Given the description of an element on the screen output the (x, y) to click on. 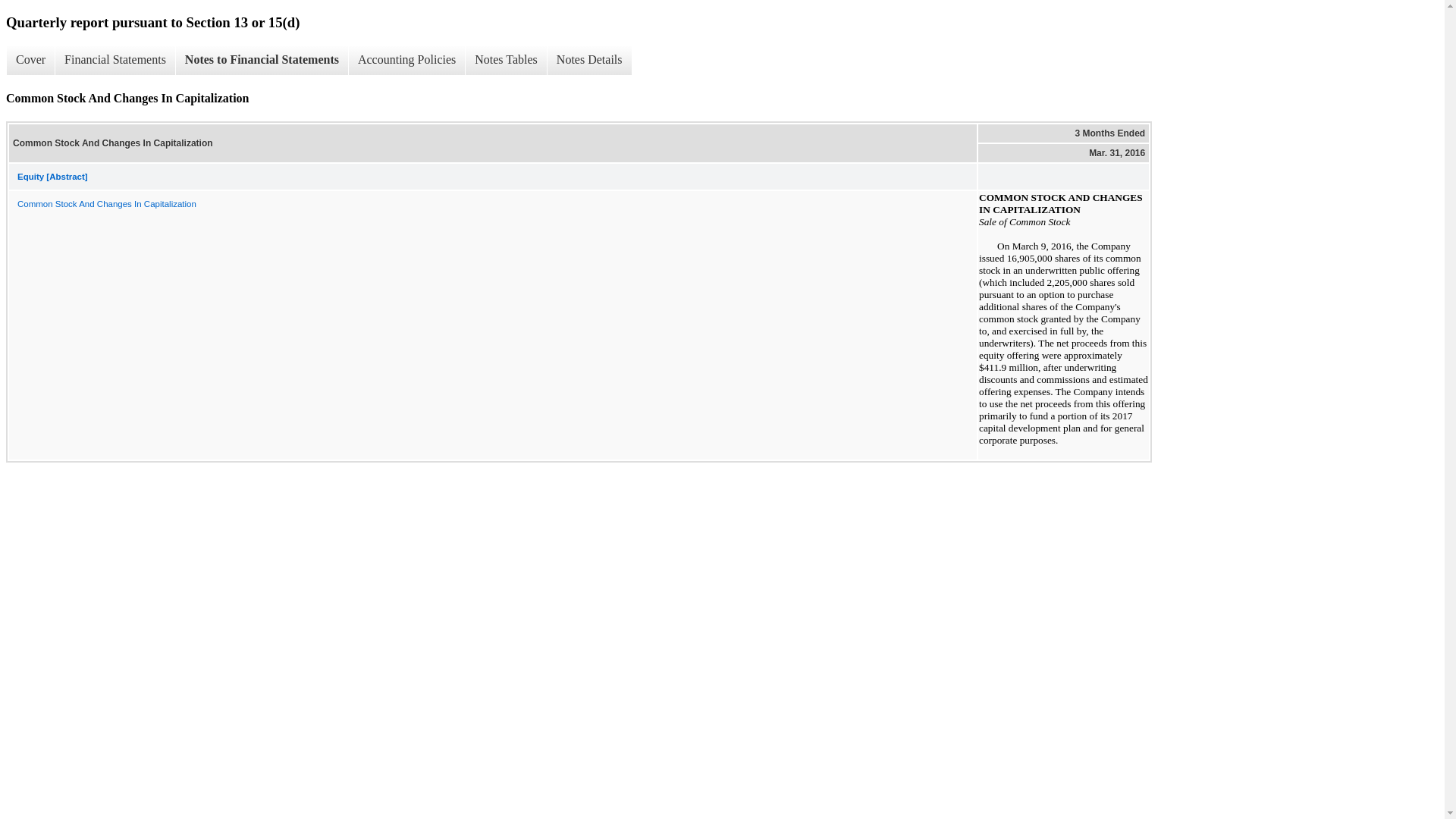
Notes Tables (505, 60)
Financial Statements (114, 60)
Notes to Financial Statements (260, 60)
Accounting Policies (405, 60)
Cover (30, 60)
